Given the description of an element on the screen output the (x, y) to click on. 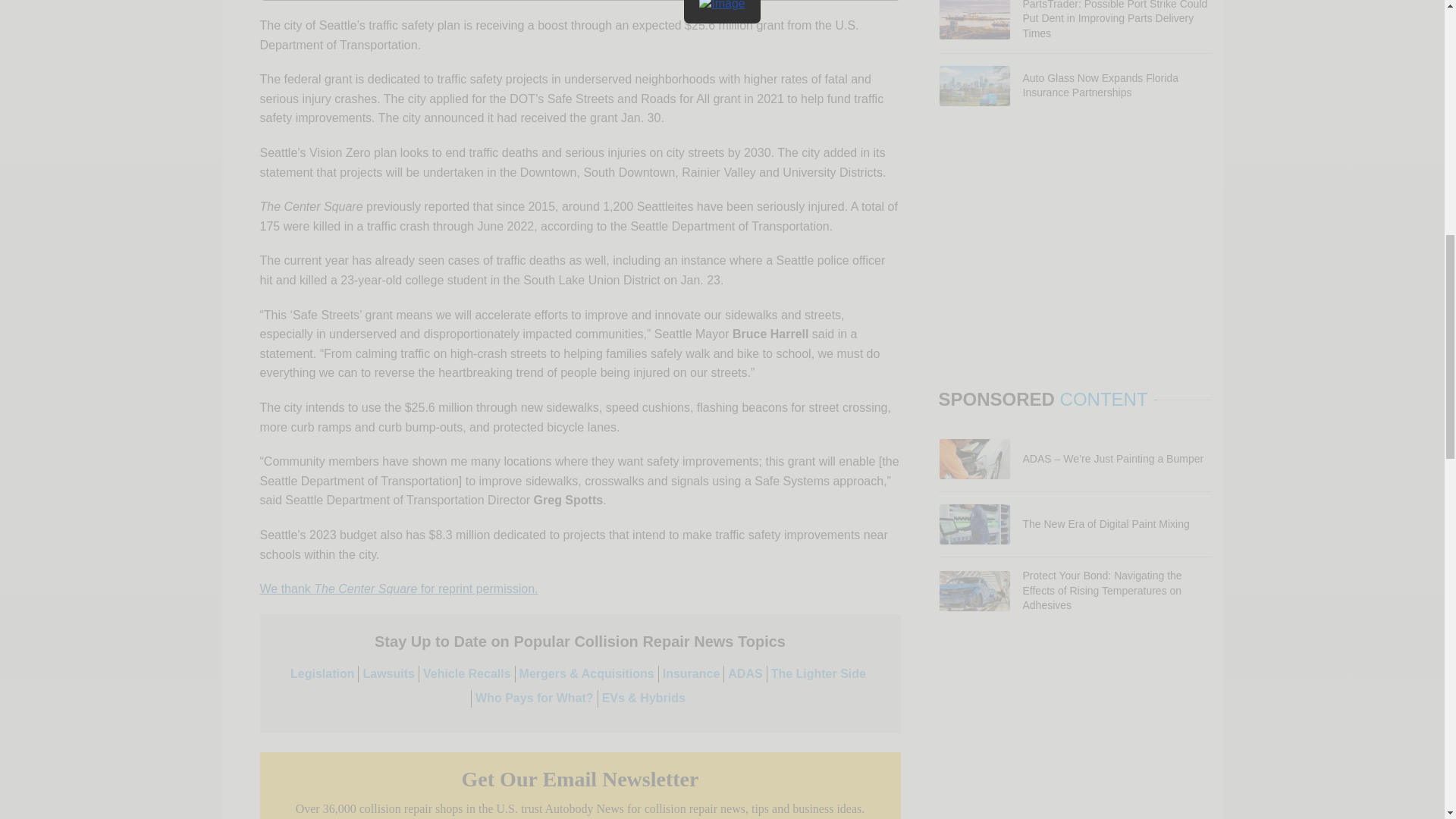
Who Pays for What? (535, 697)
Vehicle Recalls (467, 673)
Insurance (691, 673)
3rd party ad content (1074, 252)
Legislation (321, 673)
3rd party ad content (1074, 733)
Lawsuits (387, 673)
The Lighter Side (818, 673)
ADAS (744, 673)
